Given the description of an element on the screen output the (x, y) to click on. 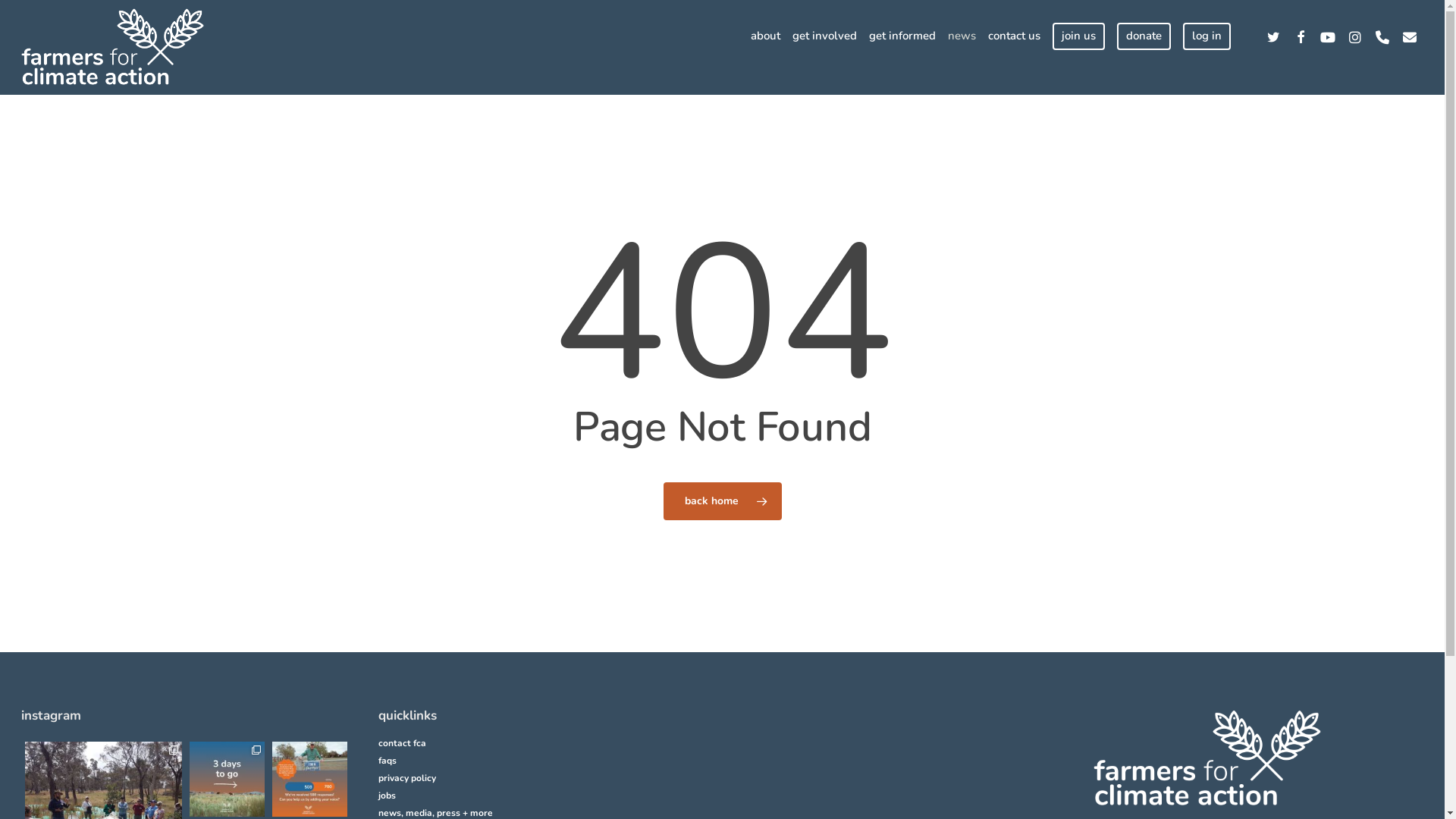
phone Element type: text (1382, 35)
log in Element type: text (1206, 35)
facebook Element type: text (1300, 35)
about Element type: text (765, 35)
donate Element type: text (1143, 35)
instagram Element type: text (1354, 35)
news Element type: text (961, 35)
youtube Element type: text (1327, 35)
join us Element type: text (1078, 35)
jobs Element type: text (543, 795)
contact fca Element type: text (543, 743)
twitter Element type: text (1272, 35)
back home Element type: text (721, 501)
get informed Element type: text (901, 35)
contact us Element type: text (1014, 35)
get involved Element type: text (824, 35)
faqs Element type: text (543, 760)
privacy policy Element type: text (543, 778)
email Element type: text (1409, 35)
